Given the description of an element on the screen output the (x, y) to click on. 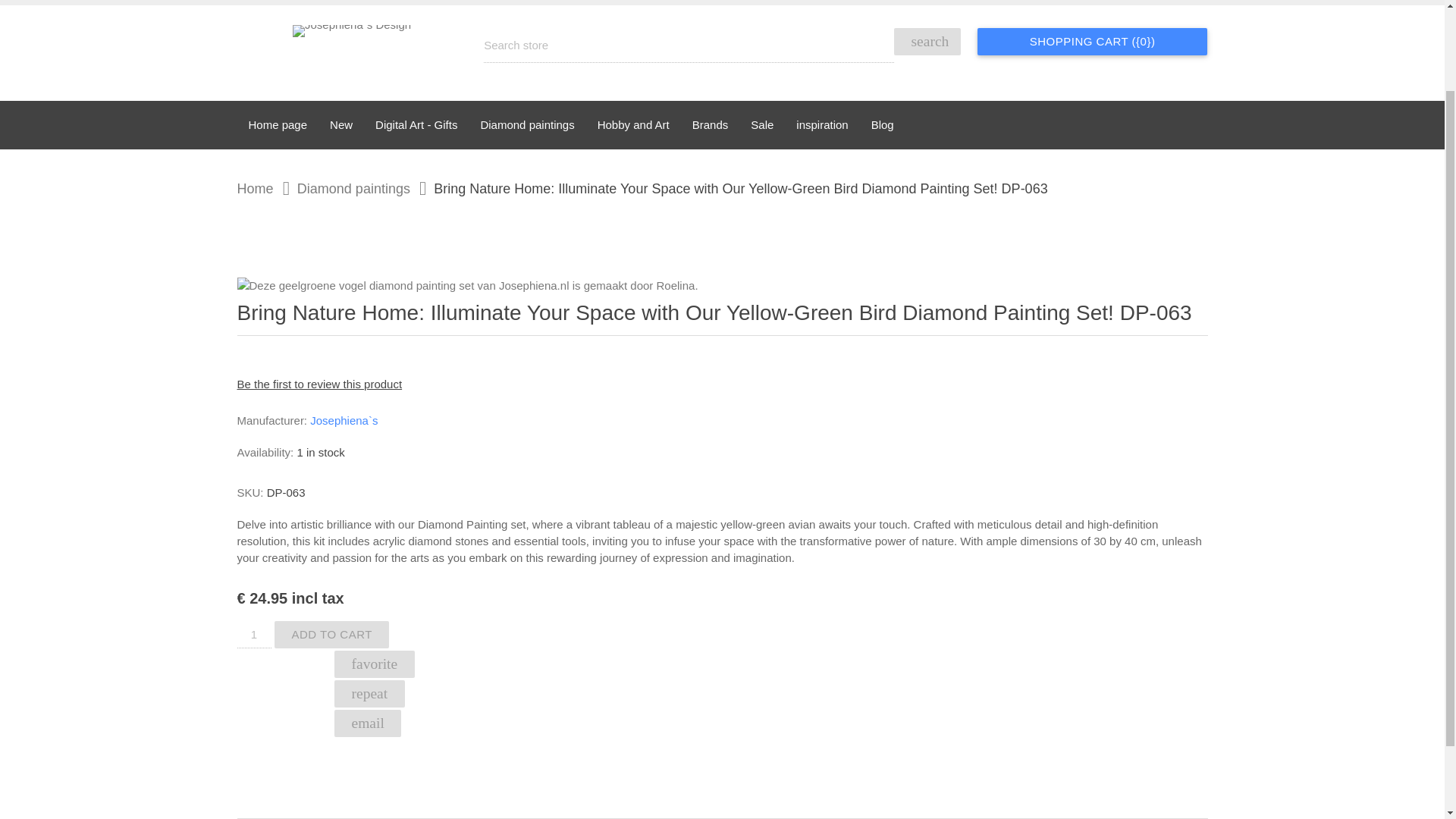
search (926, 41)
Diamond paintings (343, 188)
1 (252, 634)
